Given the description of an element on the screen output the (x, y) to click on. 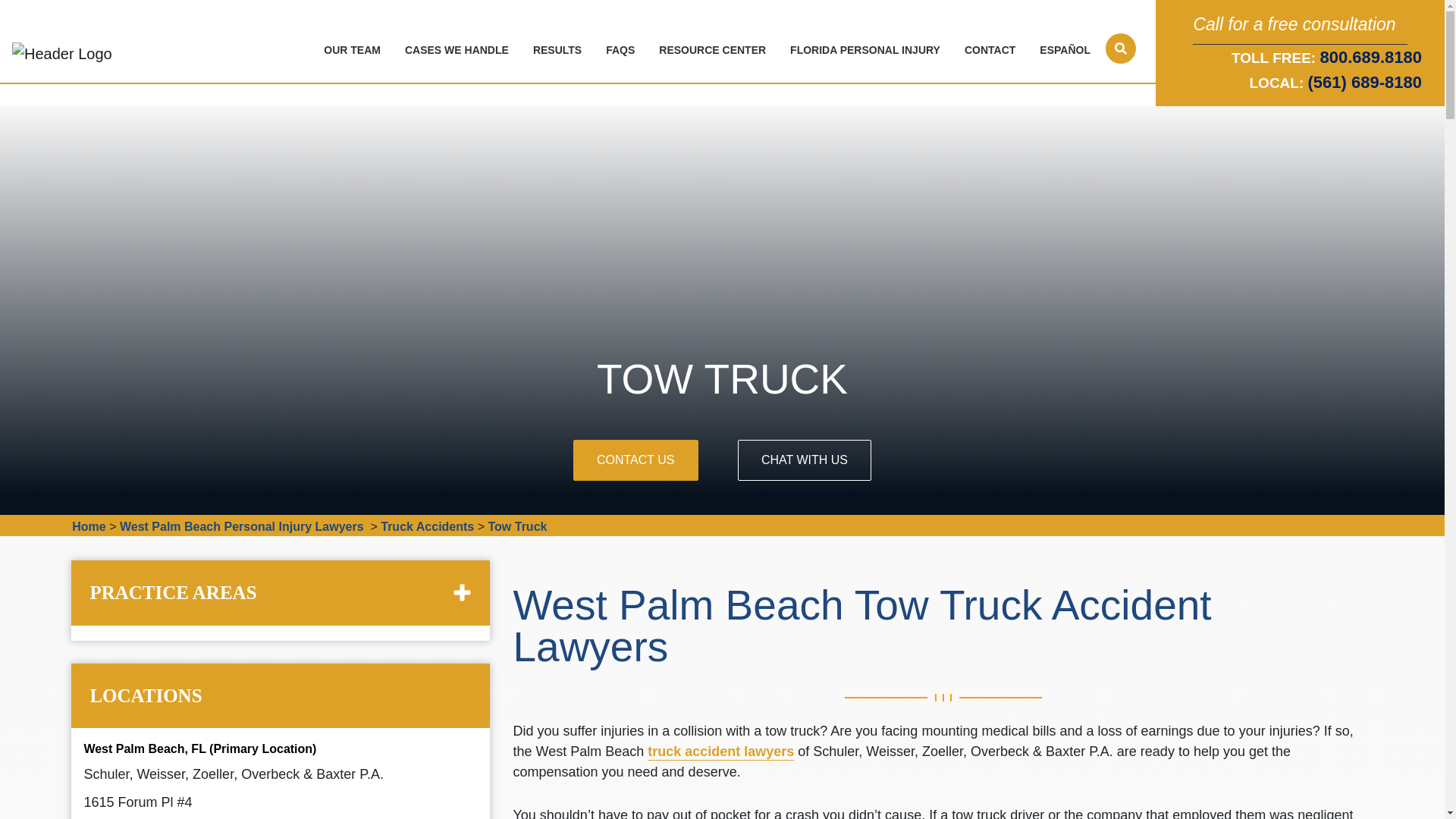
Go to Home (87, 526)
RESOURCE CENTER (714, 50)
search modal (1120, 48)
FAQS (622, 50)
RESULTS (560, 50)
CASES WE HANDLE (460, 50)
Go to Truck Accidents. (427, 526)
OUR TEAM (355, 50)
FLORIDA PERSONAL INJURY (867, 50)
